Given the description of an element on the screen output the (x, y) to click on. 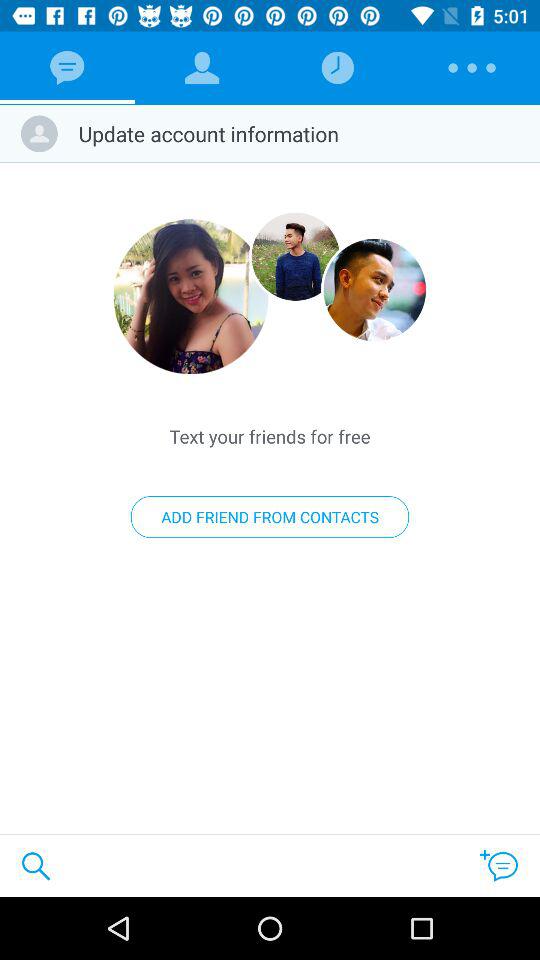
enlarge image (191, 296)
